Given the description of an element on the screen output the (x, y) to click on. 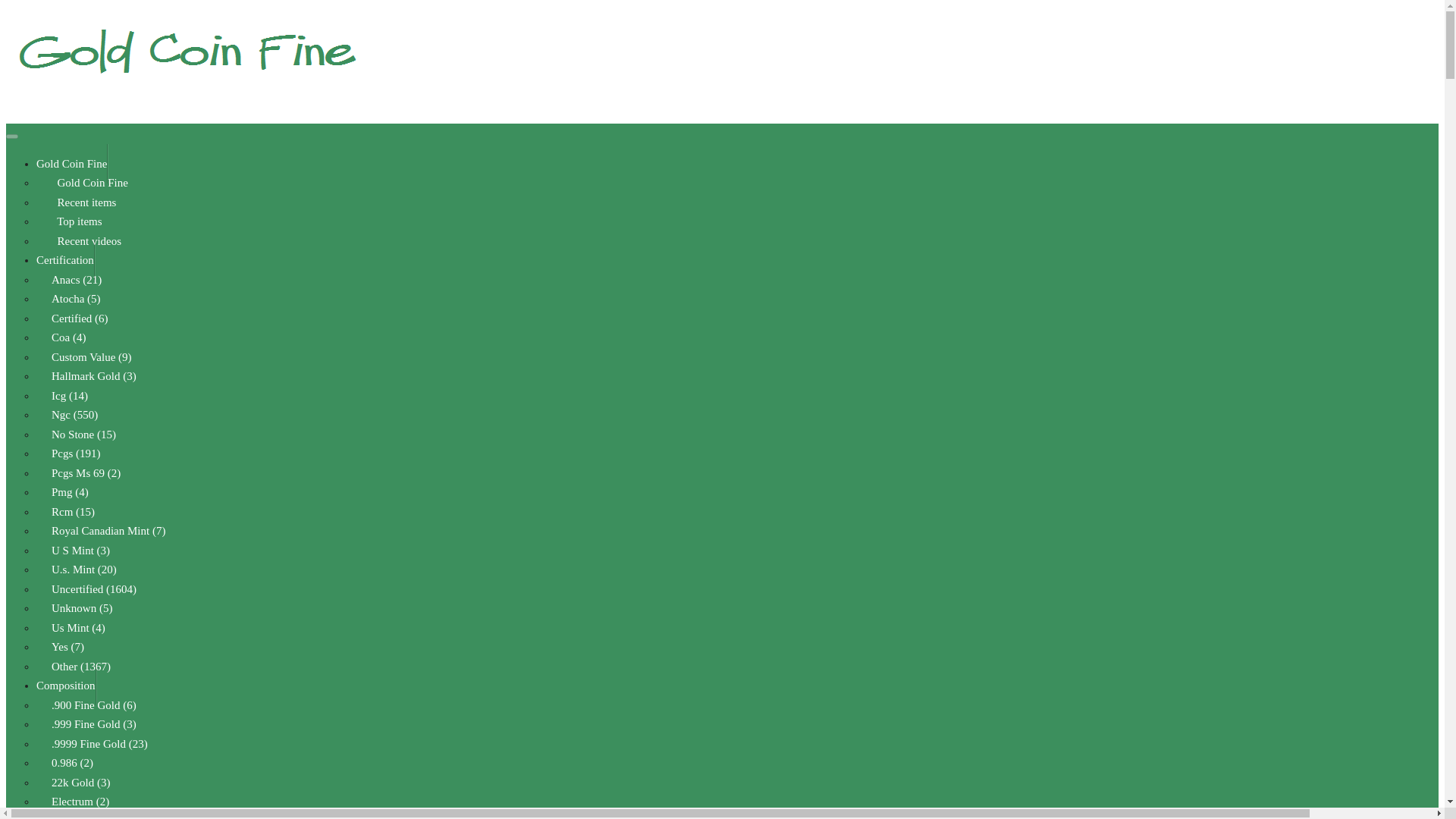
  Recent items (83, 201)
Certification (65, 260)
Gold Coin Fine (71, 163)
  Recent videos (86, 241)
Composition (66, 685)
  Top items (76, 220)
  Gold Coin Fine (89, 182)
